Given the description of an element on the screen output the (x, y) to click on. 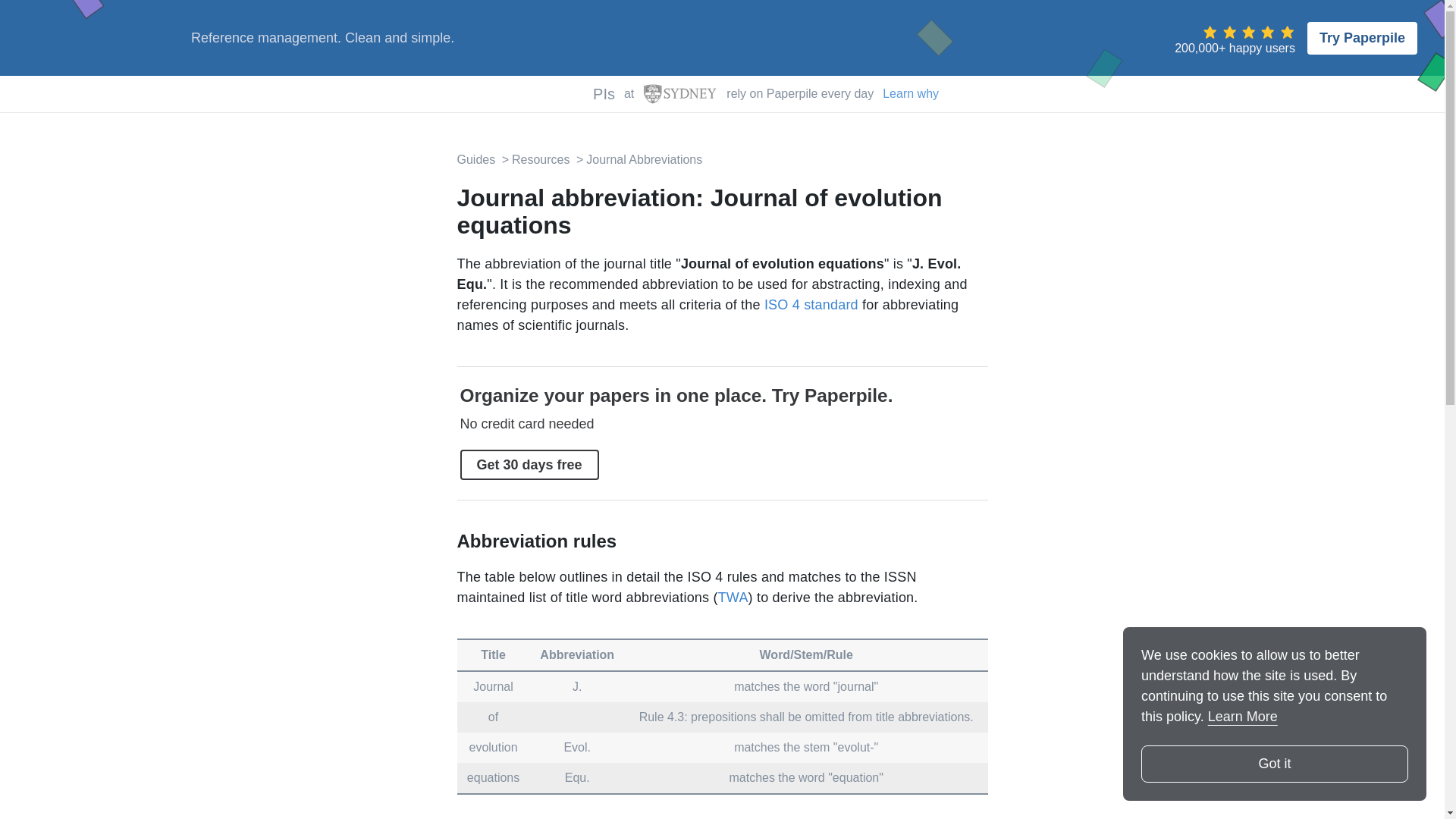
Journal Abbreviations (637, 159)
Get 30 days free (529, 464)
Learn why (910, 93)
Resources (534, 159)
ISO 4 standard (811, 304)
Guides (476, 159)
Reference management. Clean and simple. (322, 37)
Got it (1274, 763)
Learn More (1243, 716)
Try Paperpile (1361, 37)
TWA (732, 597)
